Given the description of an element on the screen output the (x, y) to click on. 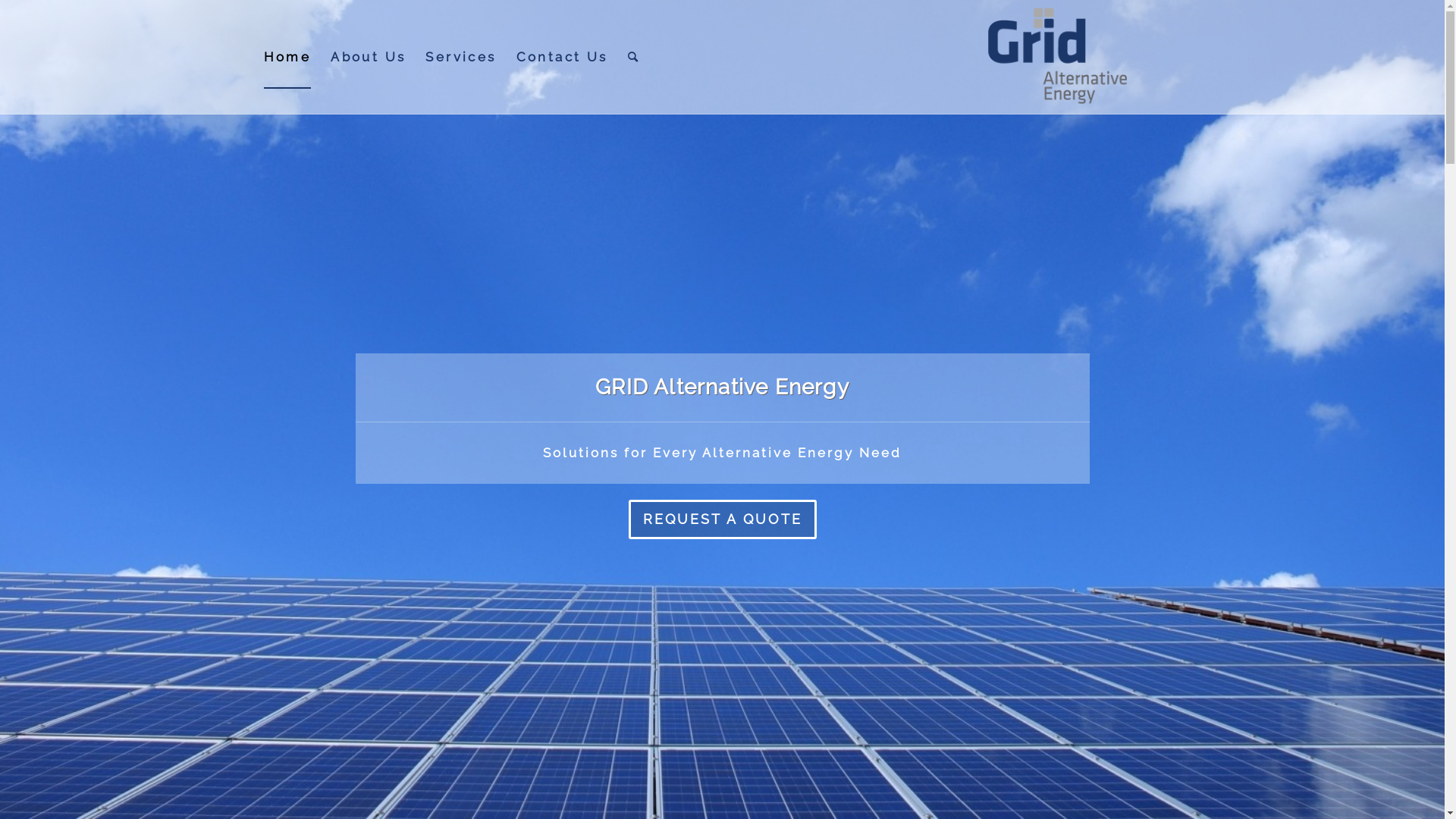
About Us Element type: text (367, 56)
REQUEST A QUOTE Element type: text (721, 519)
Contact Us Element type: text (562, 56)
Services Element type: text (460, 56)
Home Element type: text (286, 56)
